Given the description of an element on the screen output the (x, y) to click on. 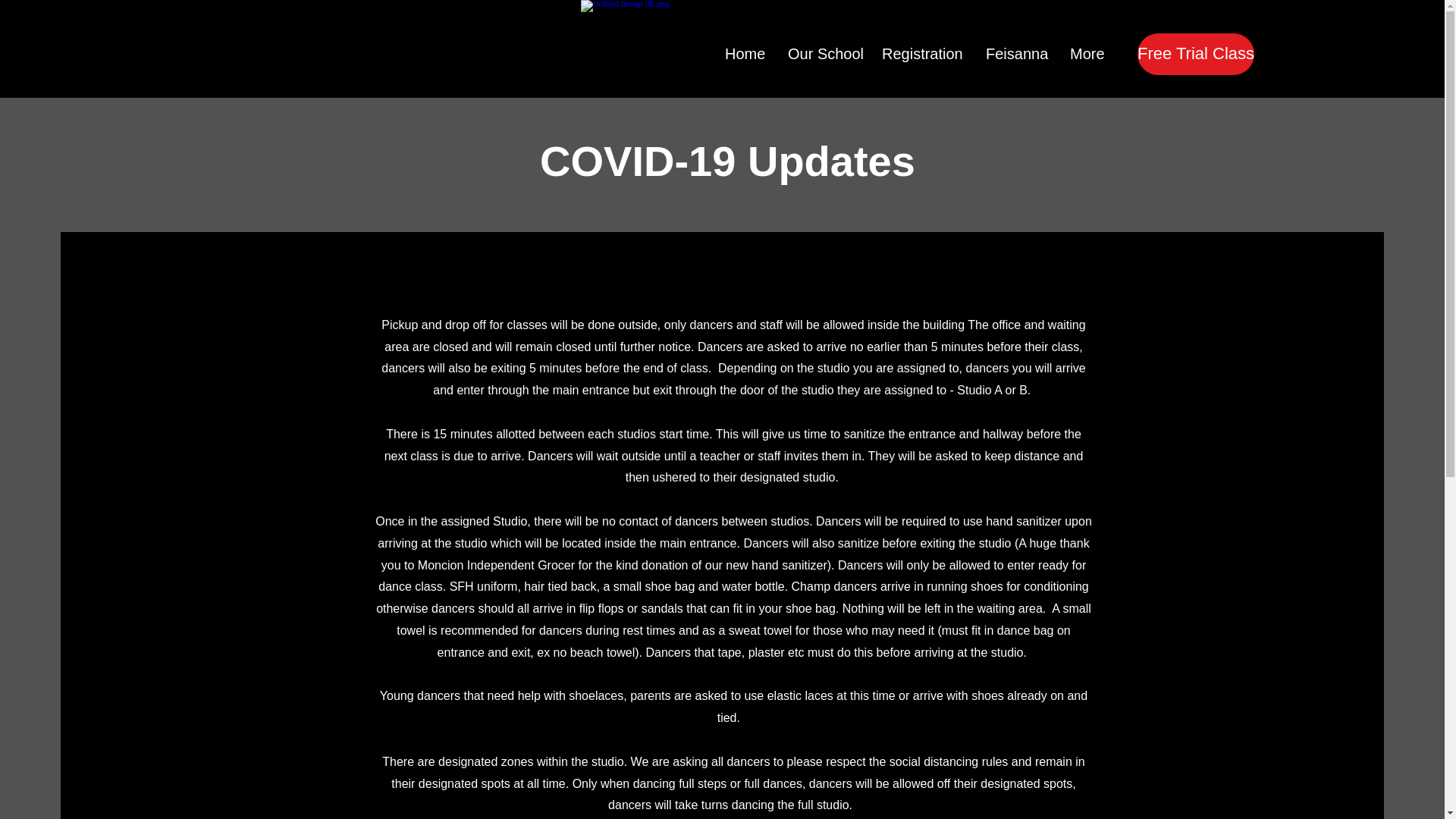
Feisanna (1016, 54)
Home (744, 54)
Free Trial Class (1195, 54)
Registration (922, 54)
Our School (823, 54)
